Given the description of an element on the screen output the (x, y) to click on. 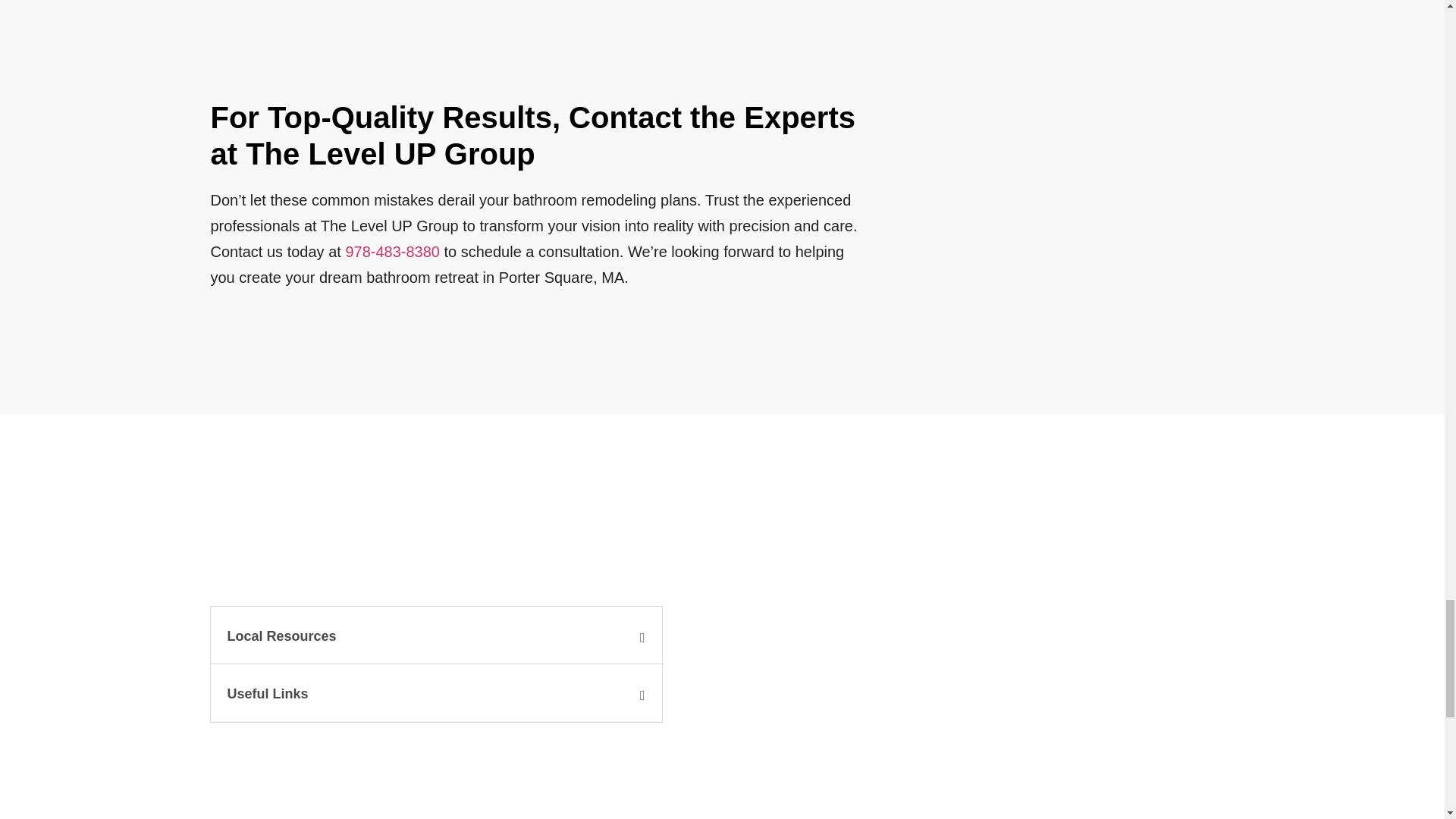
978-483-8380 (392, 251)
